Given the description of an element on the screen output the (x, y) to click on. 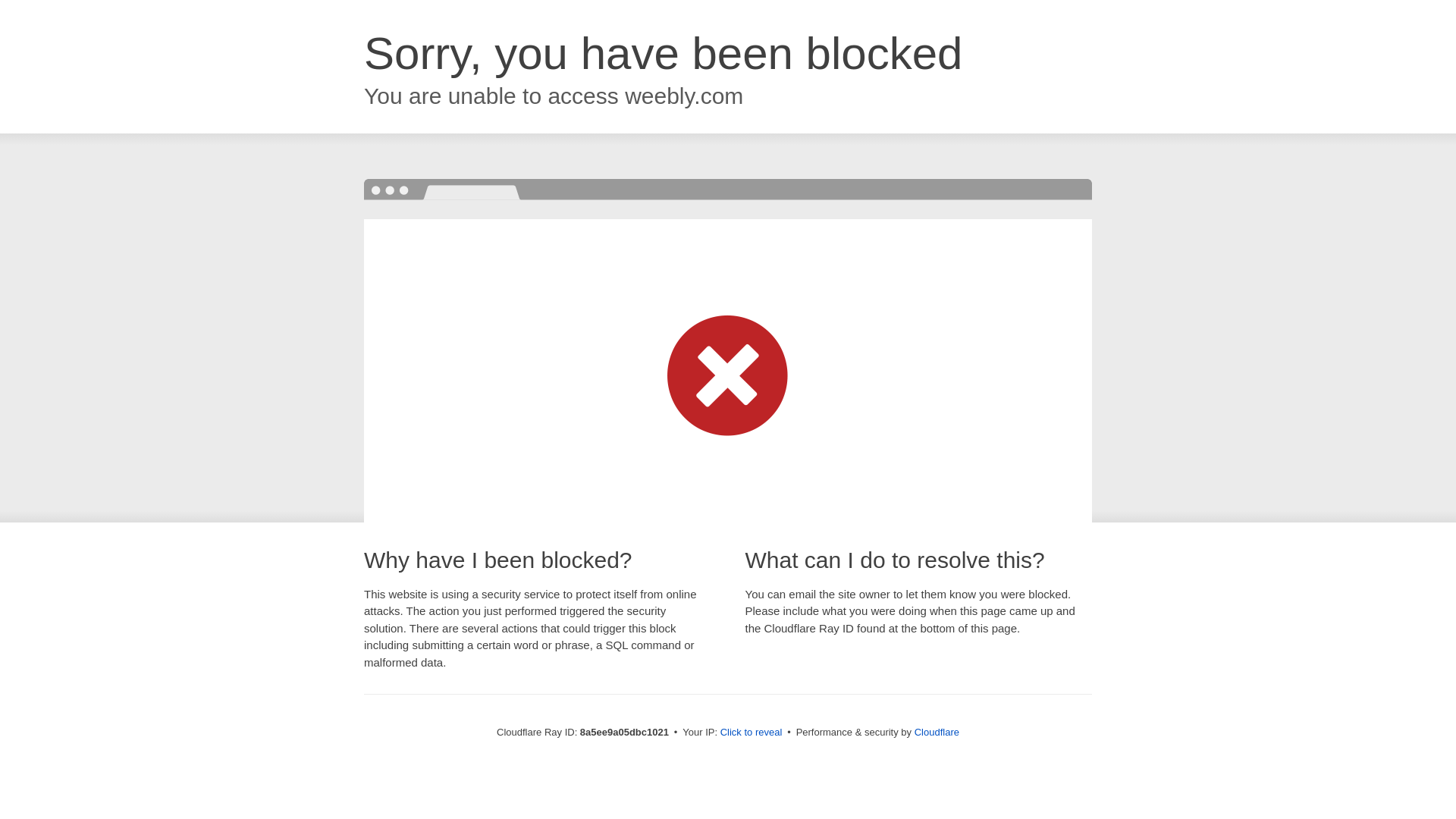
Click to reveal (751, 732)
Cloudflare (936, 731)
